Given the description of an element on the screen output the (x, y) to click on. 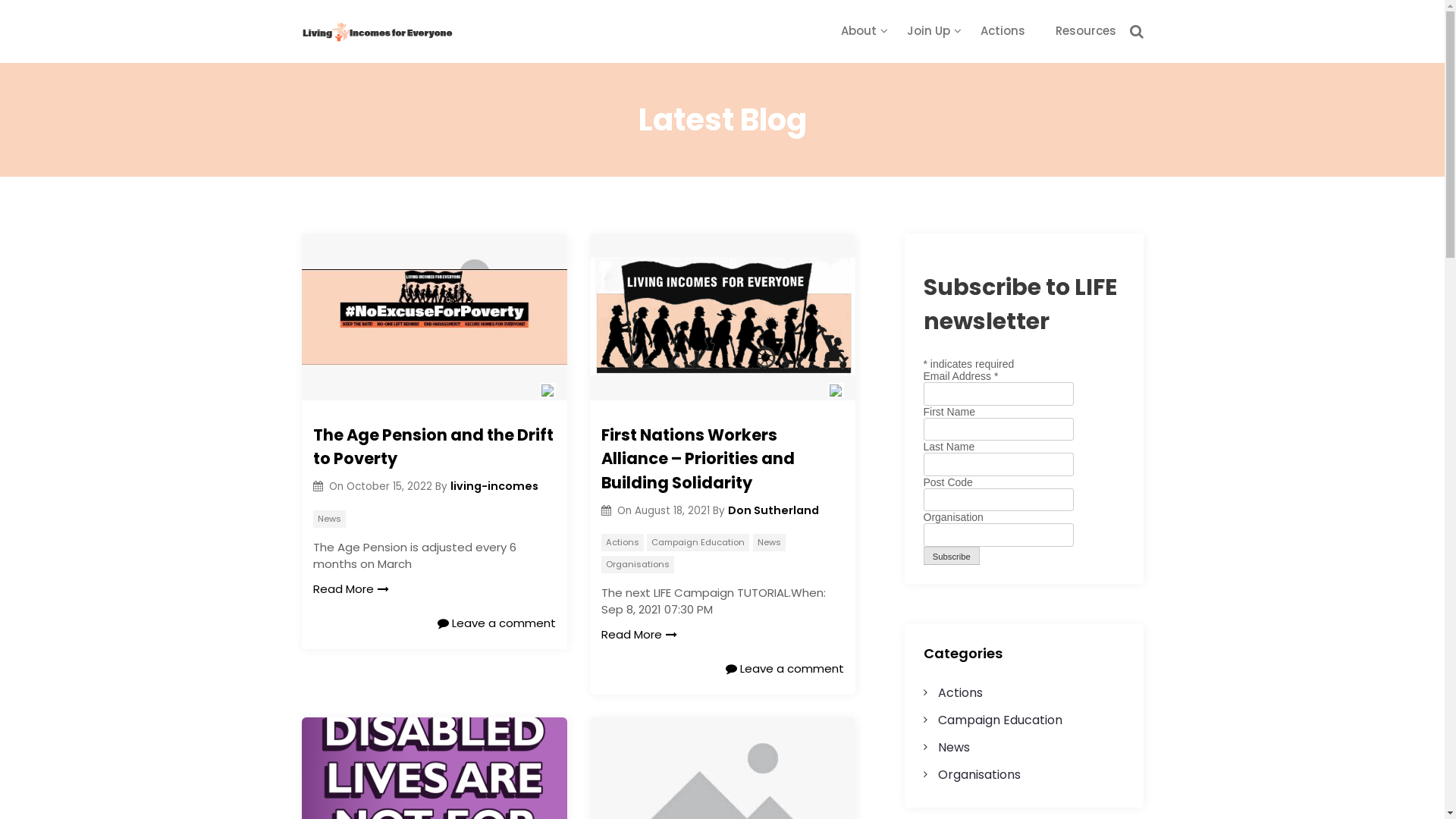
Read More Element type: text (638, 634)
Join Up Element type: text (928, 30)
News Element type: text (768, 542)
The Age Pension and the Drift to Poverty Element type: text (433, 446)
Circular focus Element type: text (1443, 162)
living-incomes Element type: text (494, 485)
Campaign Education Element type: text (697, 542)
About Element type: text (857, 30)
Subscribe Element type: text (951, 555)
Read More Element type: text (350, 589)
Living Incomes For Everyone Element type: text (423, 55)
Organisations Element type: text (636, 564)
August 18, 2021 Element type: text (673, 510)
Campaign Education Element type: text (1000, 719)
Leave a comment Element type: text (783, 668)
Resources Element type: text (1085, 30)
News Element type: text (953, 747)
Organisations Element type: text (979, 774)
News Element type: text (328, 518)
Actions Element type: text (1001, 30)
Actions Element type: text (621, 542)
Don Sutherland Element type: text (773, 509)
Actions Element type: text (960, 692)
Leave a comment Element type: text (495, 622)
October 15, 2022 Element type: text (390, 486)
